Given the description of an element on the screen output the (x, y) to click on. 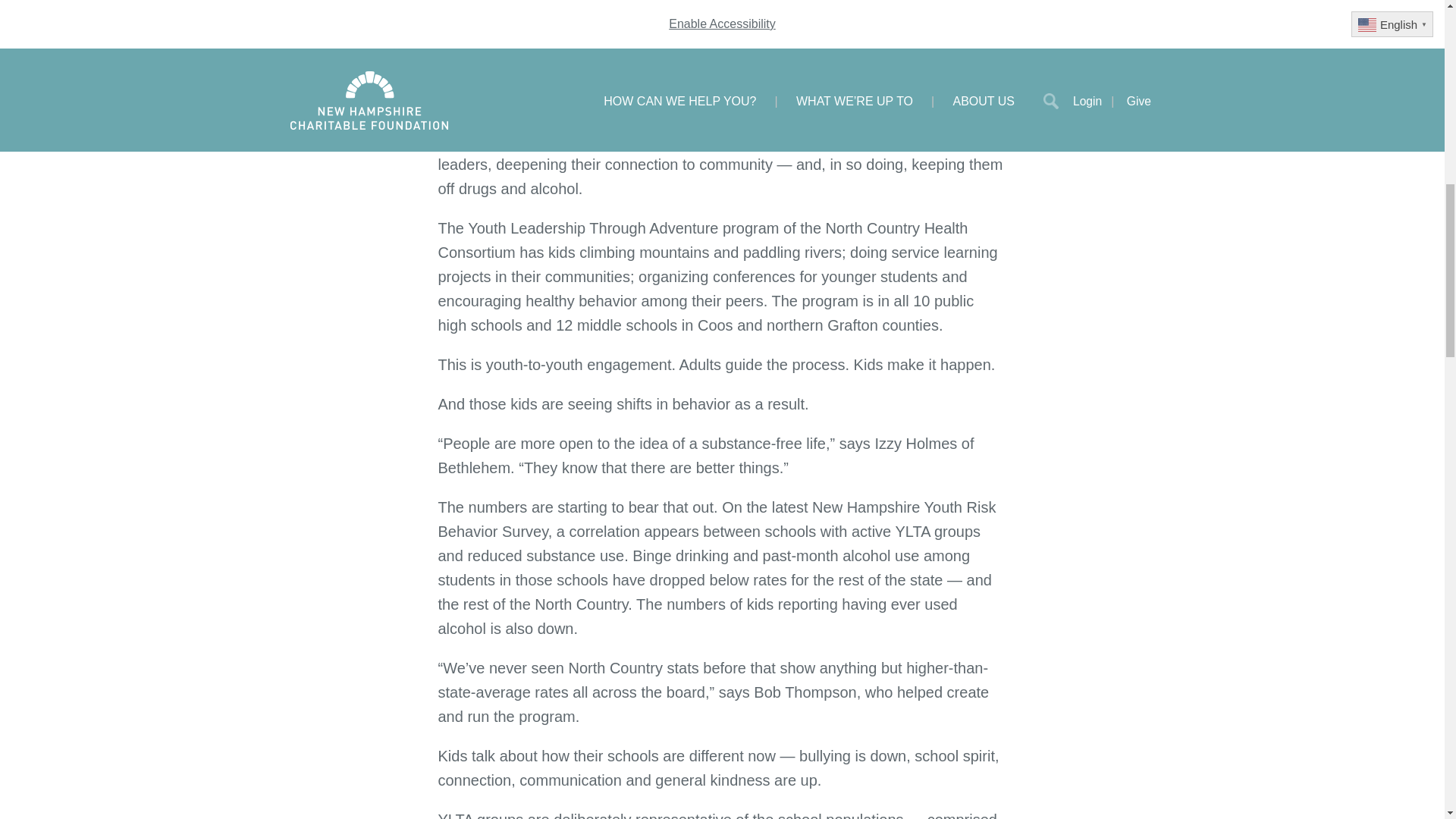
LinkedIn (559, 35)
Facebook (466, 35)
Twitter (512, 35)
Email (607, 35)
Print (654, 35)
